Given the description of an element on the screen output the (x, y) to click on. 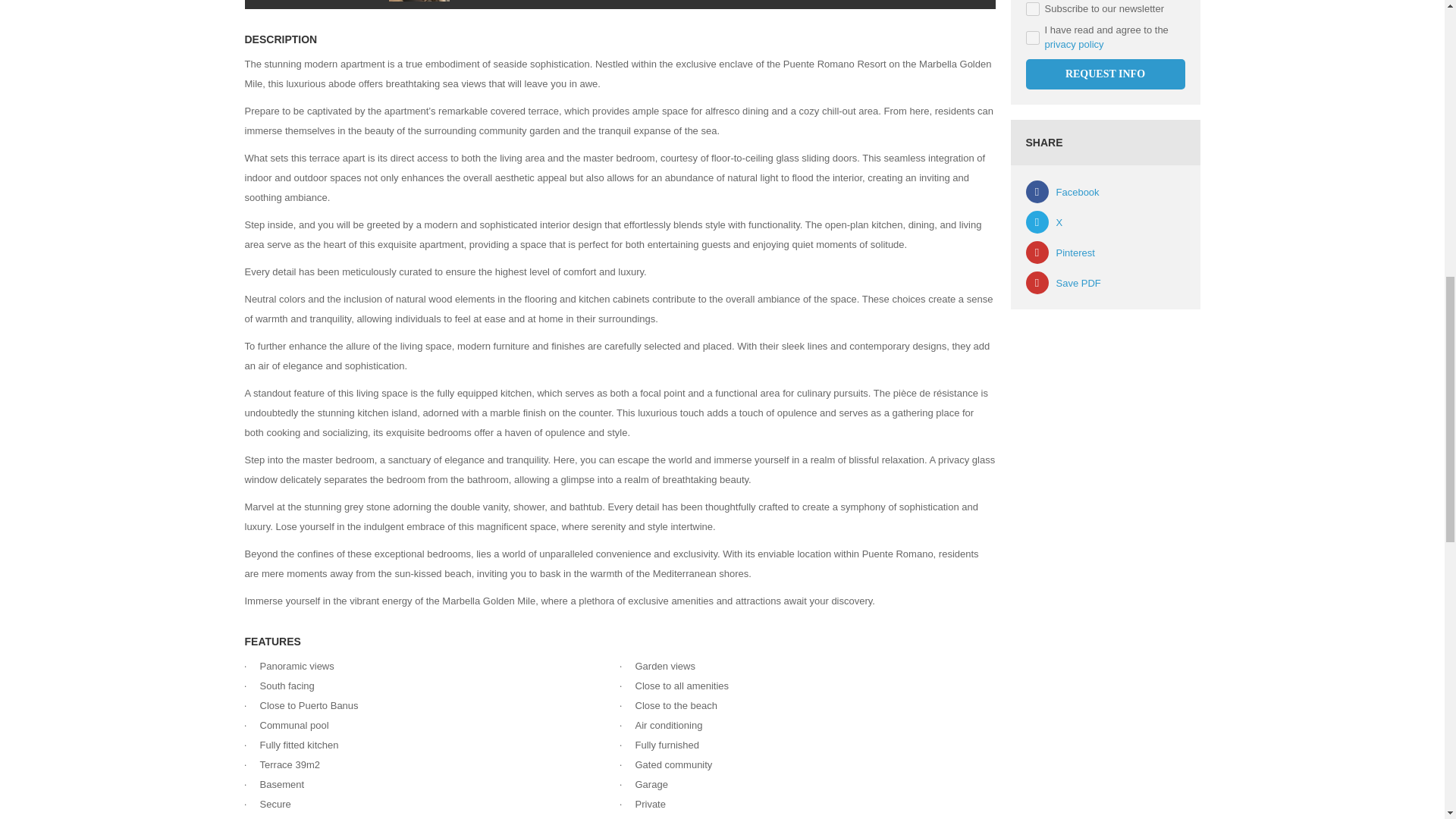
on (1032, 8)
Save PDF (1062, 282)
X (1043, 221)
Facebook (1062, 191)
REQUEST INFO (1105, 73)
X (1043, 221)
Pinterest (1059, 251)
on (1032, 38)
Facebook (1062, 191)
Pinterest (1059, 251)
